Given the description of an element on the screen output the (x, y) to click on. 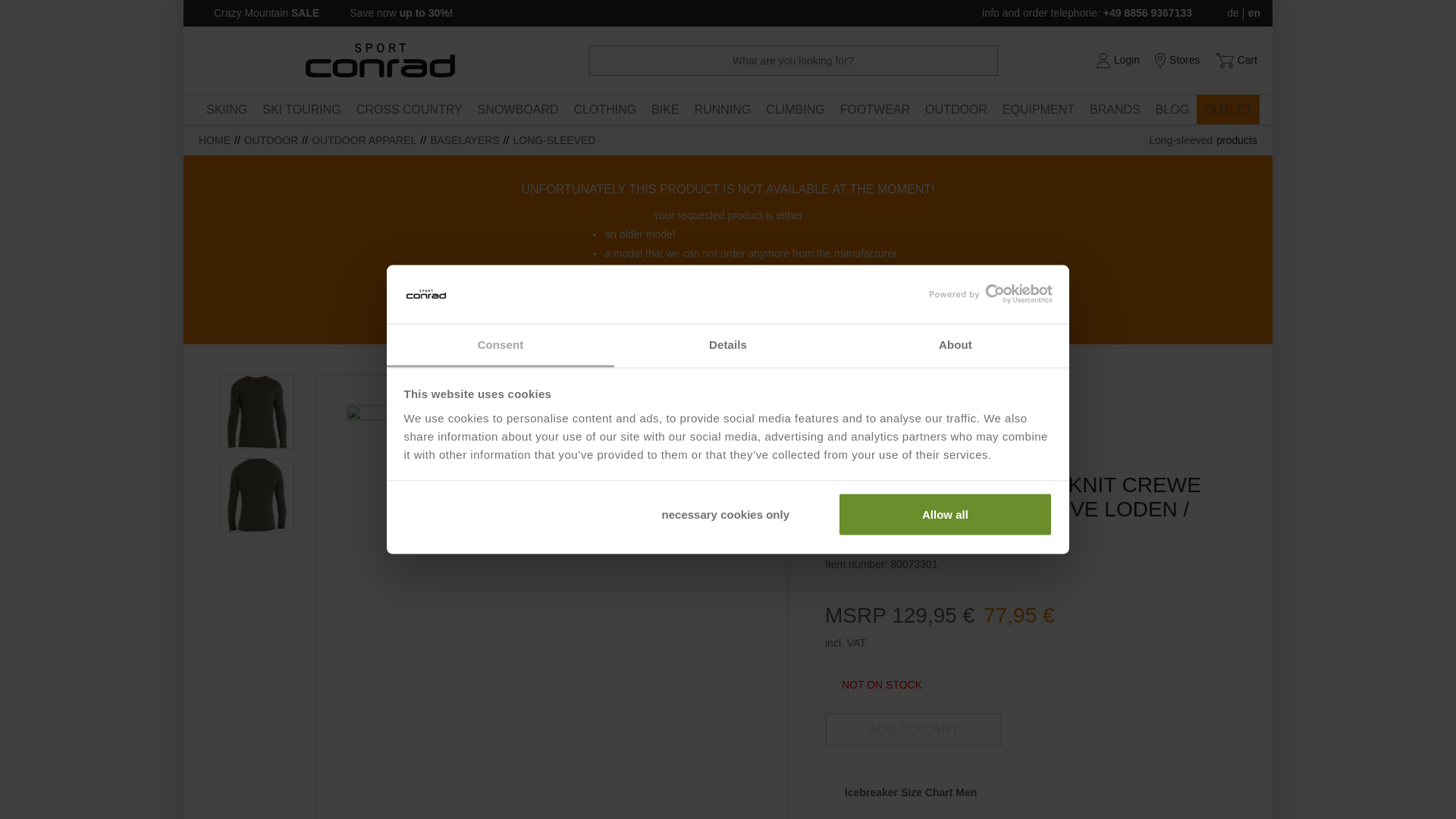
Details (727, 344)
About (954, 344)
Consent (500, 344)
